Given the description of an element on the screen output the (x, y) to click on. 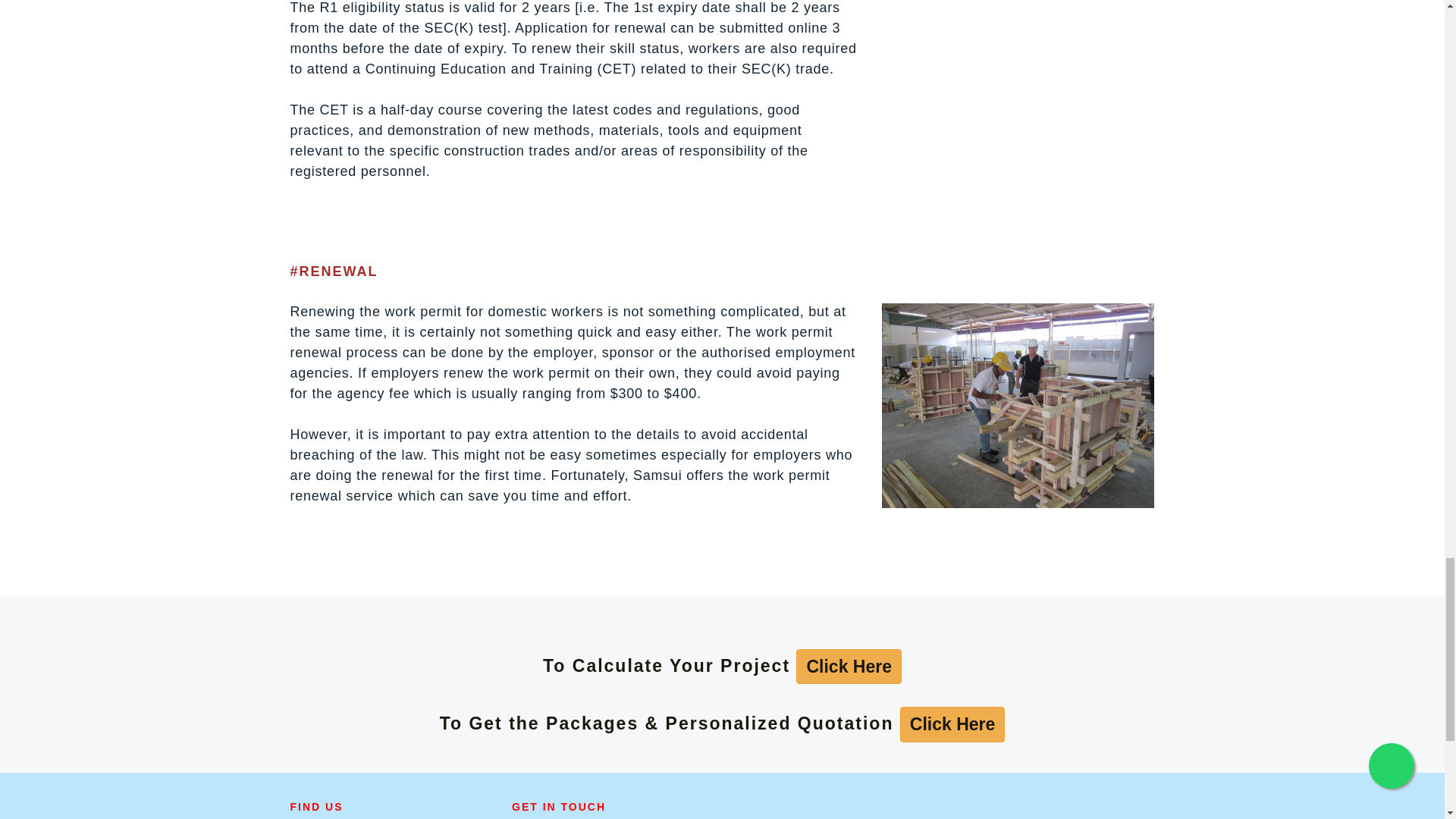
Click Here (952, 724)
Click Here (848, 666)
Click Here (952, 723)
Click Here (848, 666)
